Given the description of an element on the screen output the (x, y) to click on. 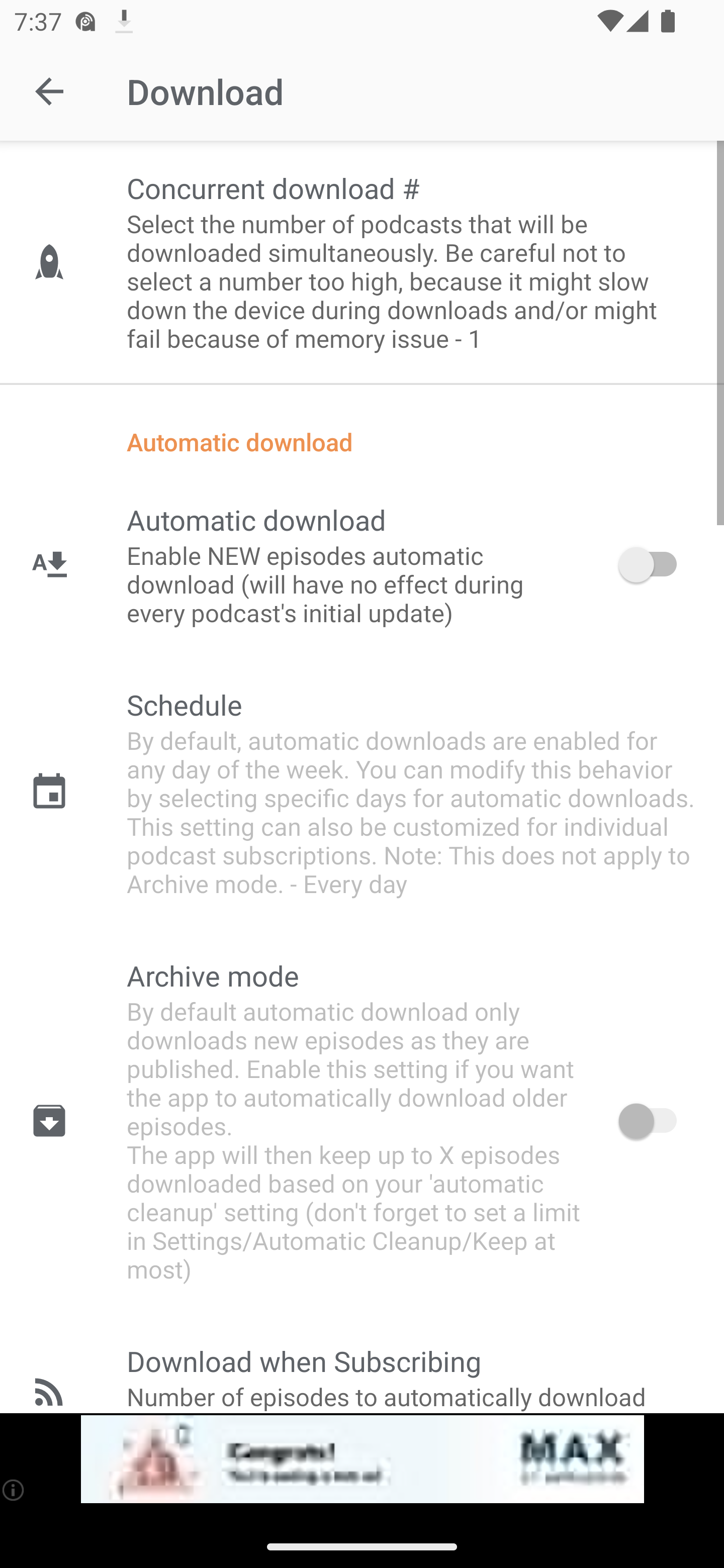
Navigate up (49, 91)
app-monetization (362, 1459)
(i) (14, 1489)
